Given the description of an element on the screen output the (x, y) to click on. 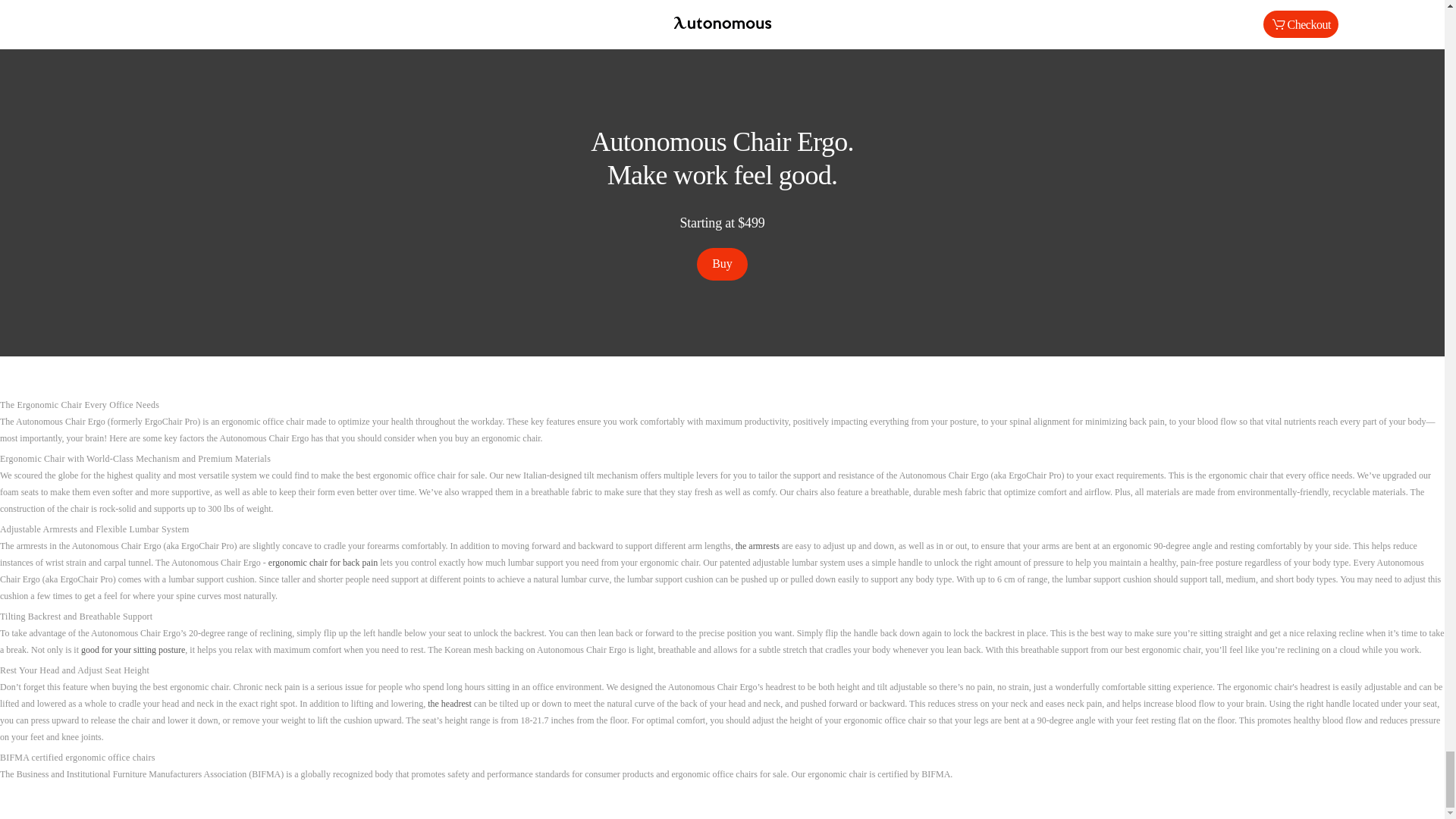
ergonomic chair for back pain (322, 562)
the armrests (756, 545)
good for your sitting posture (132, 649)
the headrest (449, 703)
Buy (722, 264)
